Given the description of an element on the screen output the (x, y) to click on. 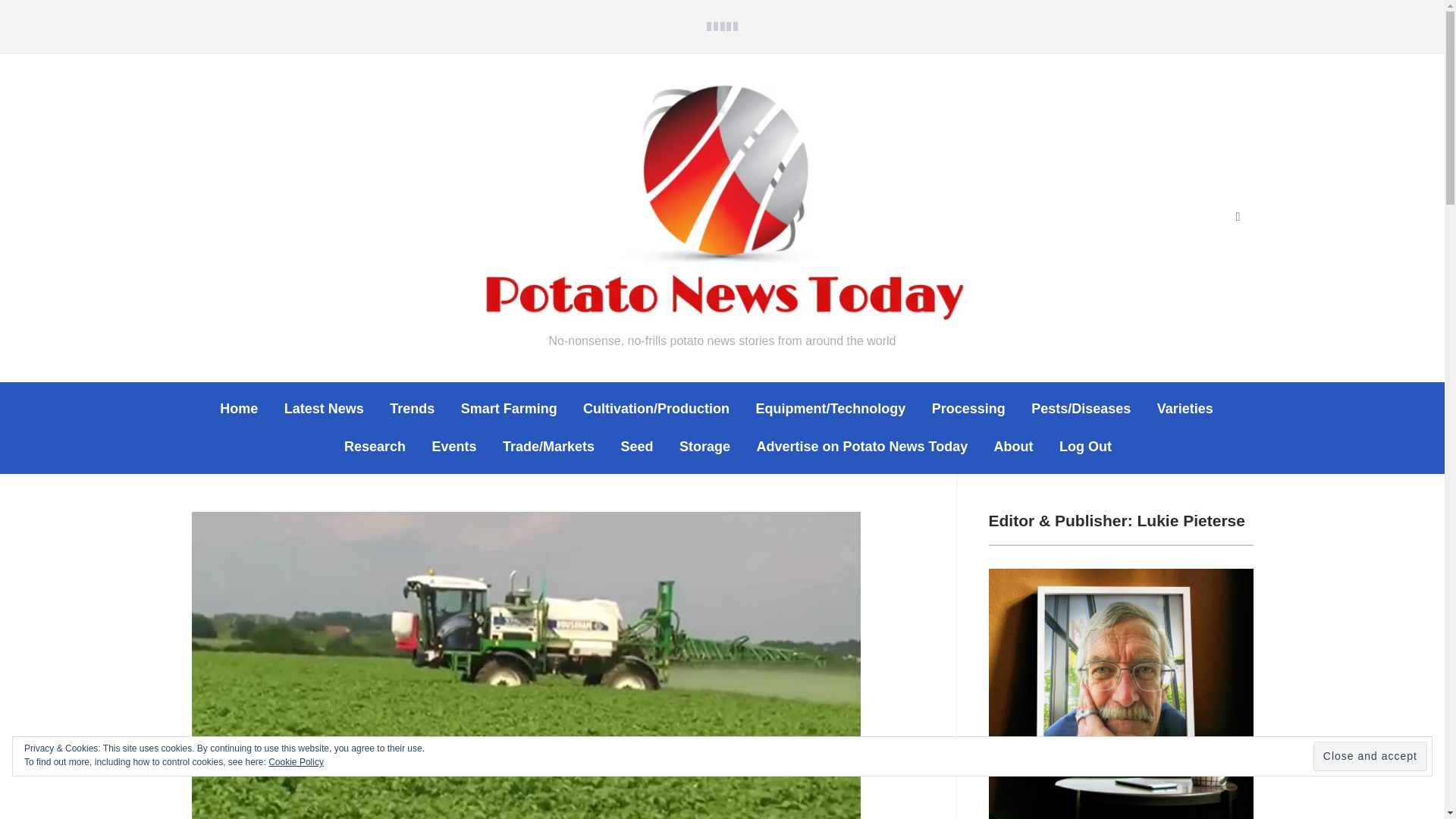
Varieties (1184, 408)
Latest News (323, 408)
Close and accept (1369, 756)
Search (1237, 217)
Processing (968, 408)
Trends (411, 408)
Home (238, 408)
Smart Farming (509, 408)
